Given the description of an element on the screen output the (x, y) to click on. 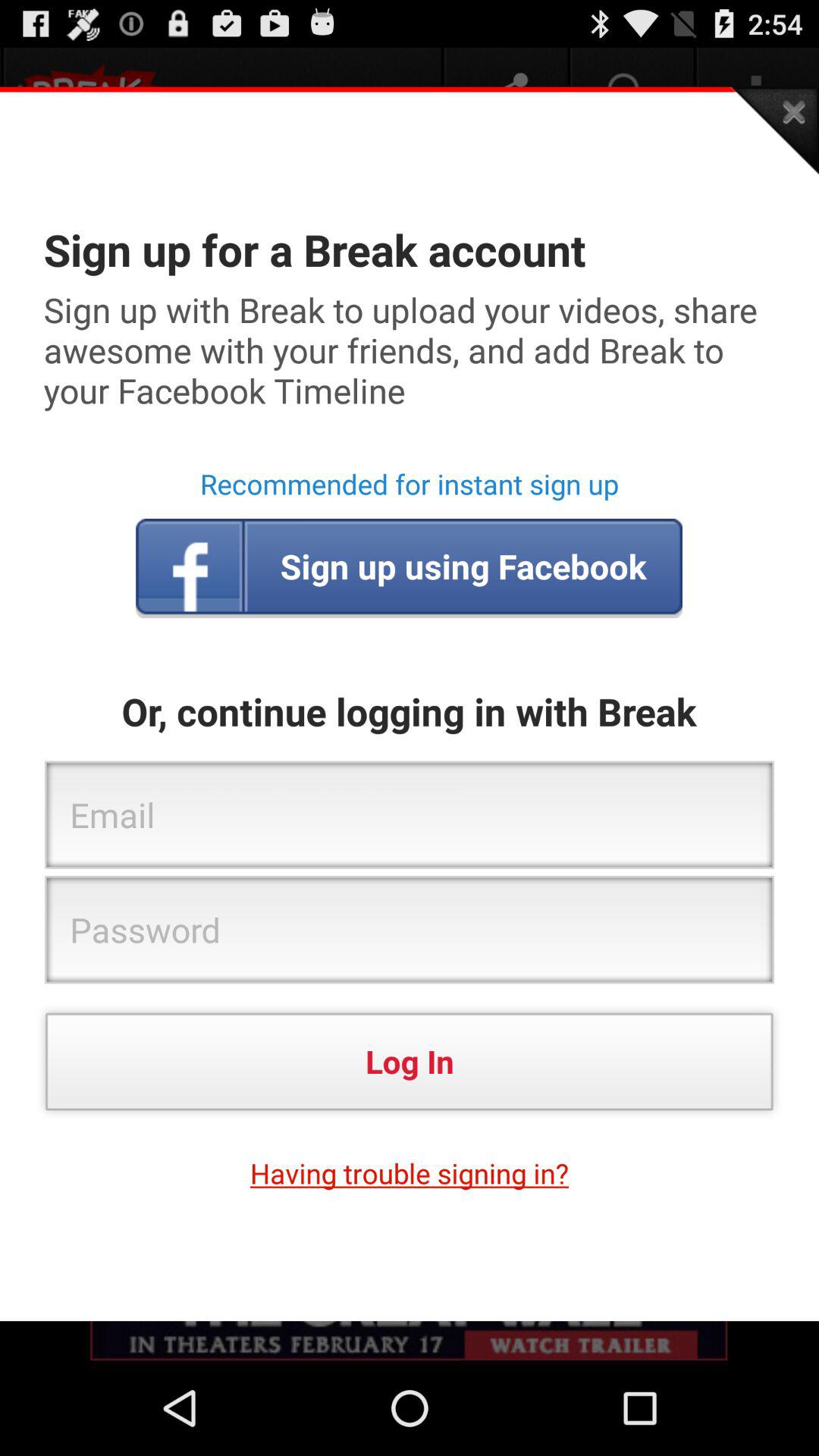
enter the email box (409, 815)
